Given the description of an element on the screen output the (x, y) to click on. 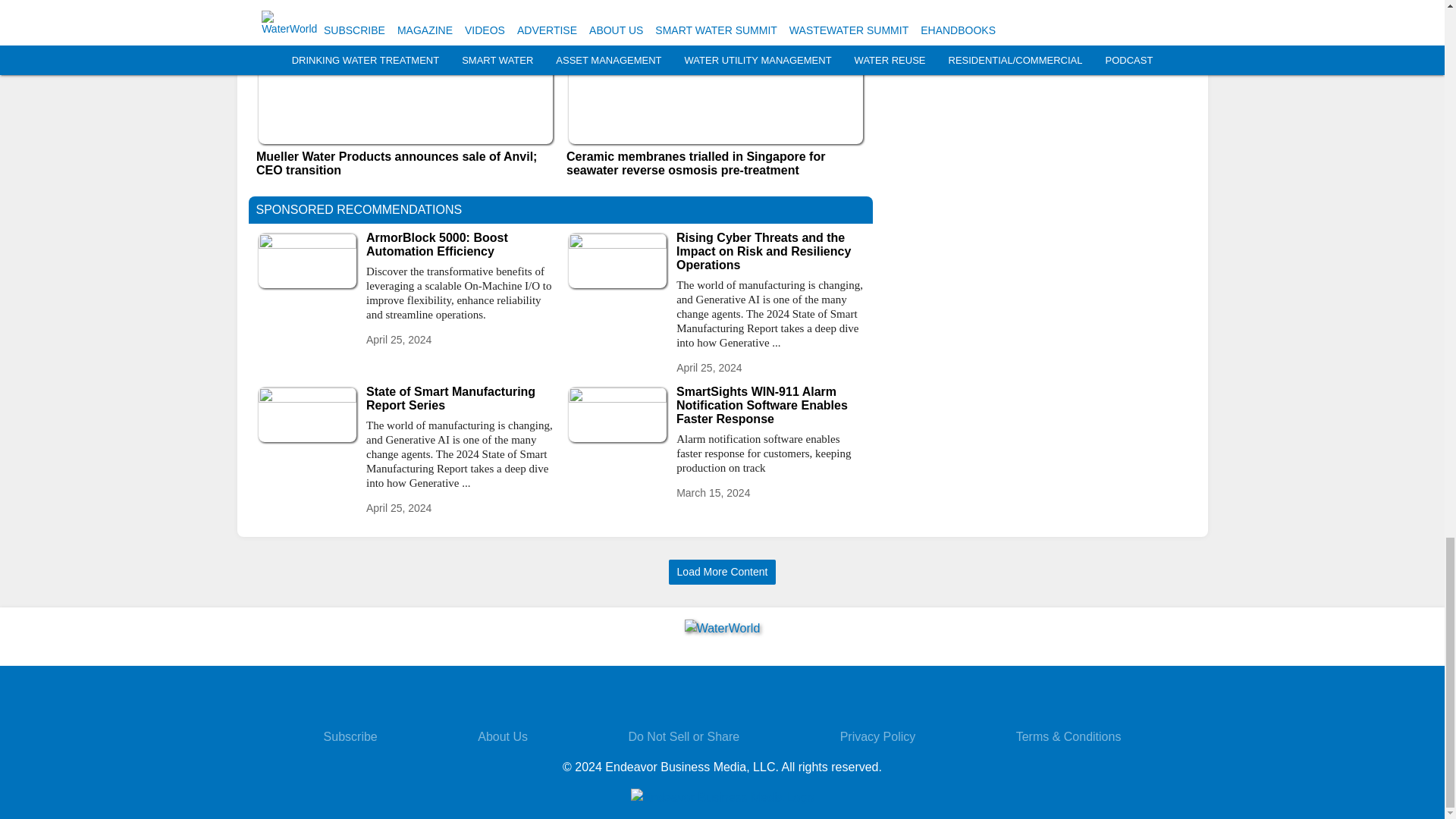
ArmorBlock 5000: Boost Automation Efficiency (459, 244)
State of Smart Manufacturing Report Series (459, 398)
